Given the description of an element on the screen output the (x, y) to click on. 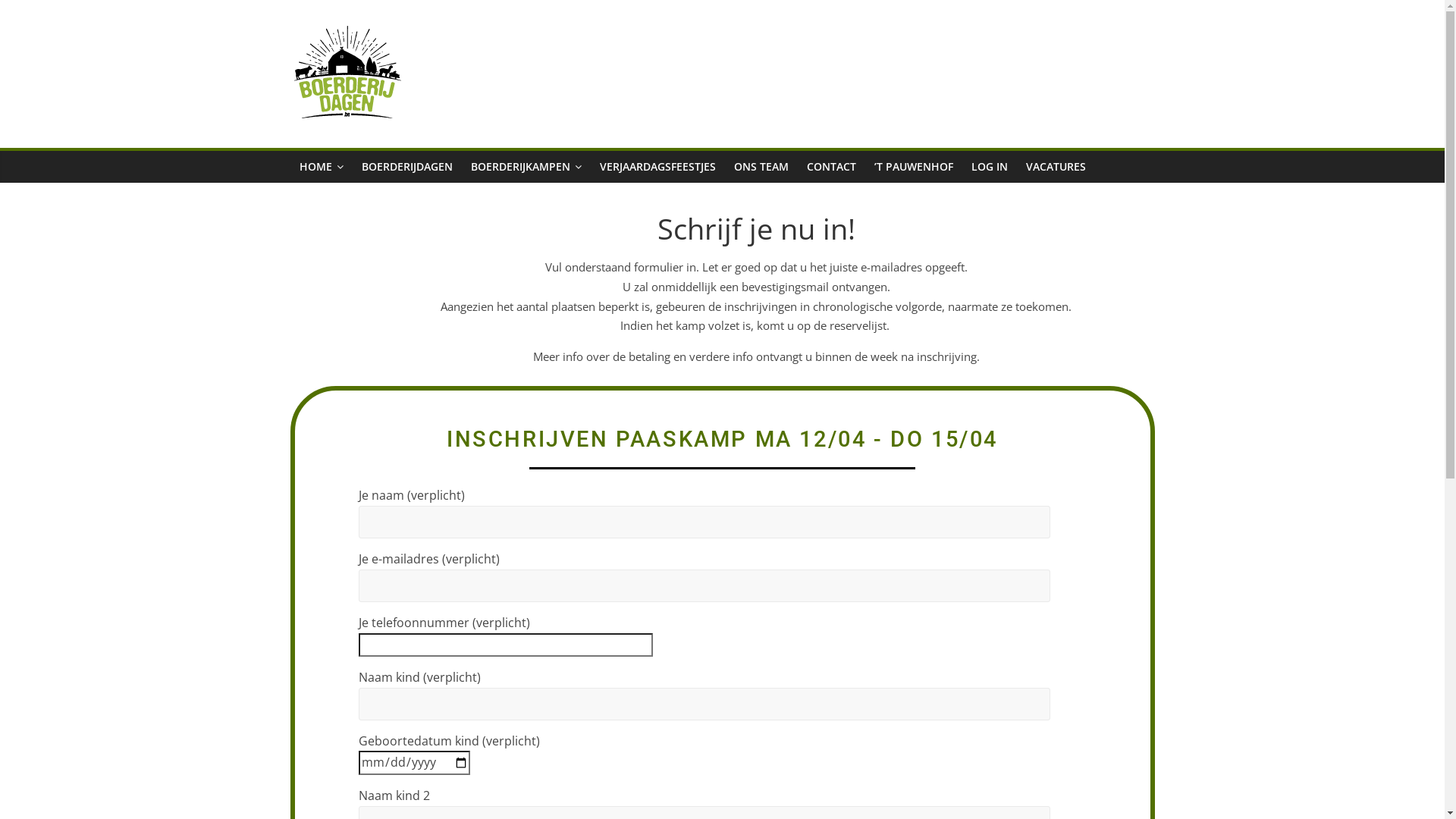
VACATURES Element type: text (1055, 166)
HOME Element type: text (320, 166)
LOG IN Element type: text (988, 166)
CONTACT Element type: text (831, 166)
VERJAARDAGSFEESTJES Element type: text (656, 166)
BOERDERIJDAGEN Element type: text (406, 166)
BOERDERIJKAMPEN Element type: text (525, 166)
ONS TEAM Element type: text (760, 166)
